Given the description of an element on the screen output the (x, y) to click on. 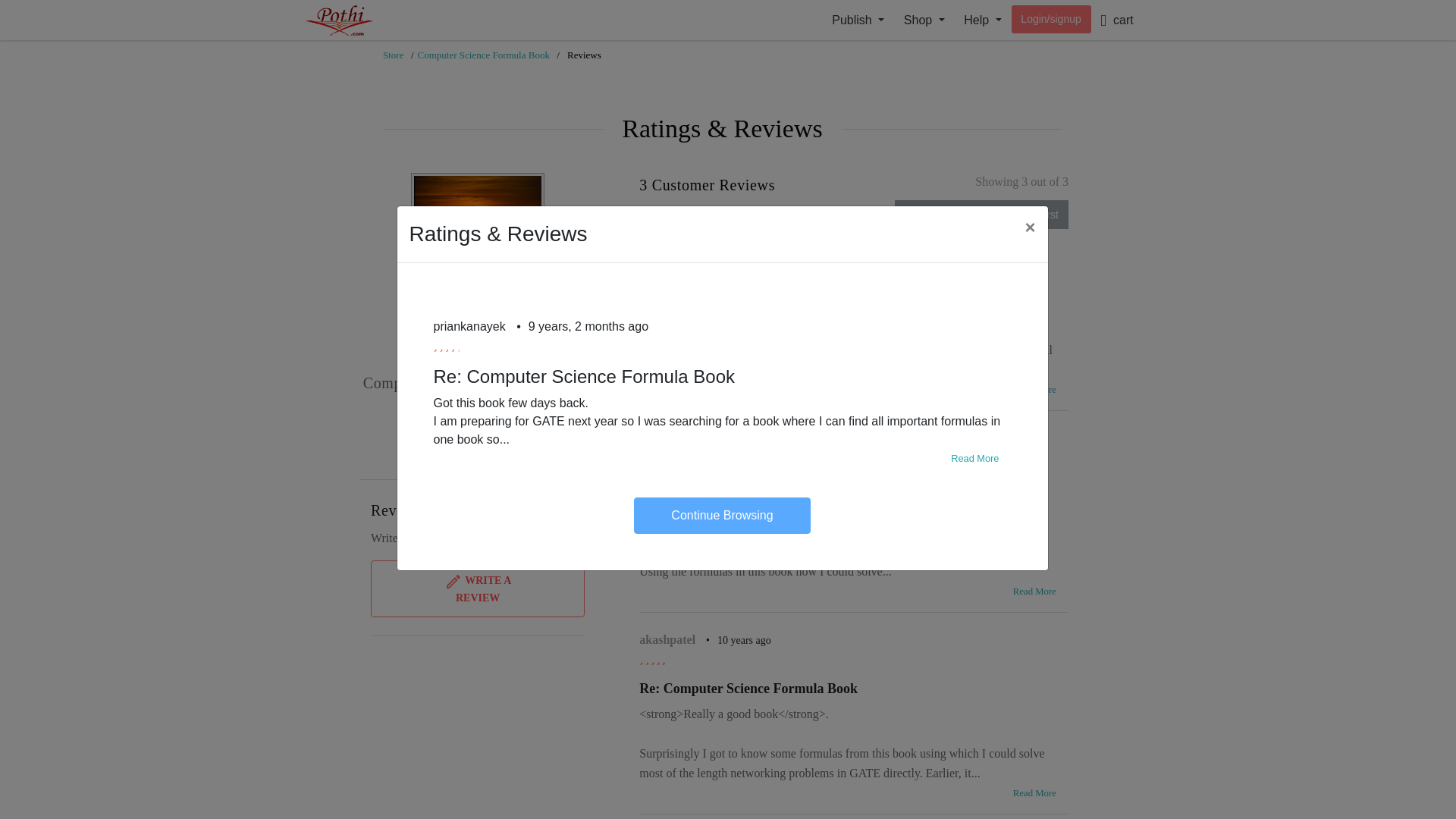
Read More (1034, 792)
Help (983, 20)
WRITE A REVIEW (478, 588)
Re: Computer Science Formula Book (748, 304)
Publish (857, 20)
SORT BY: Newest Reviews First (981, 214)
Read More (1034, 591)
Store (392, 54)
Re: Computer Science Formula Book (748, 486)
Read More (1034, 389)
Re: Computer Science Formula Book (748, 688)
  cart (1116, 20)
Computer Science Formula Book (483, 54)
pothi.com (354, 20)
Shop (923, 20)
